Given the description of an element on the screen output the (x, y) to click on. 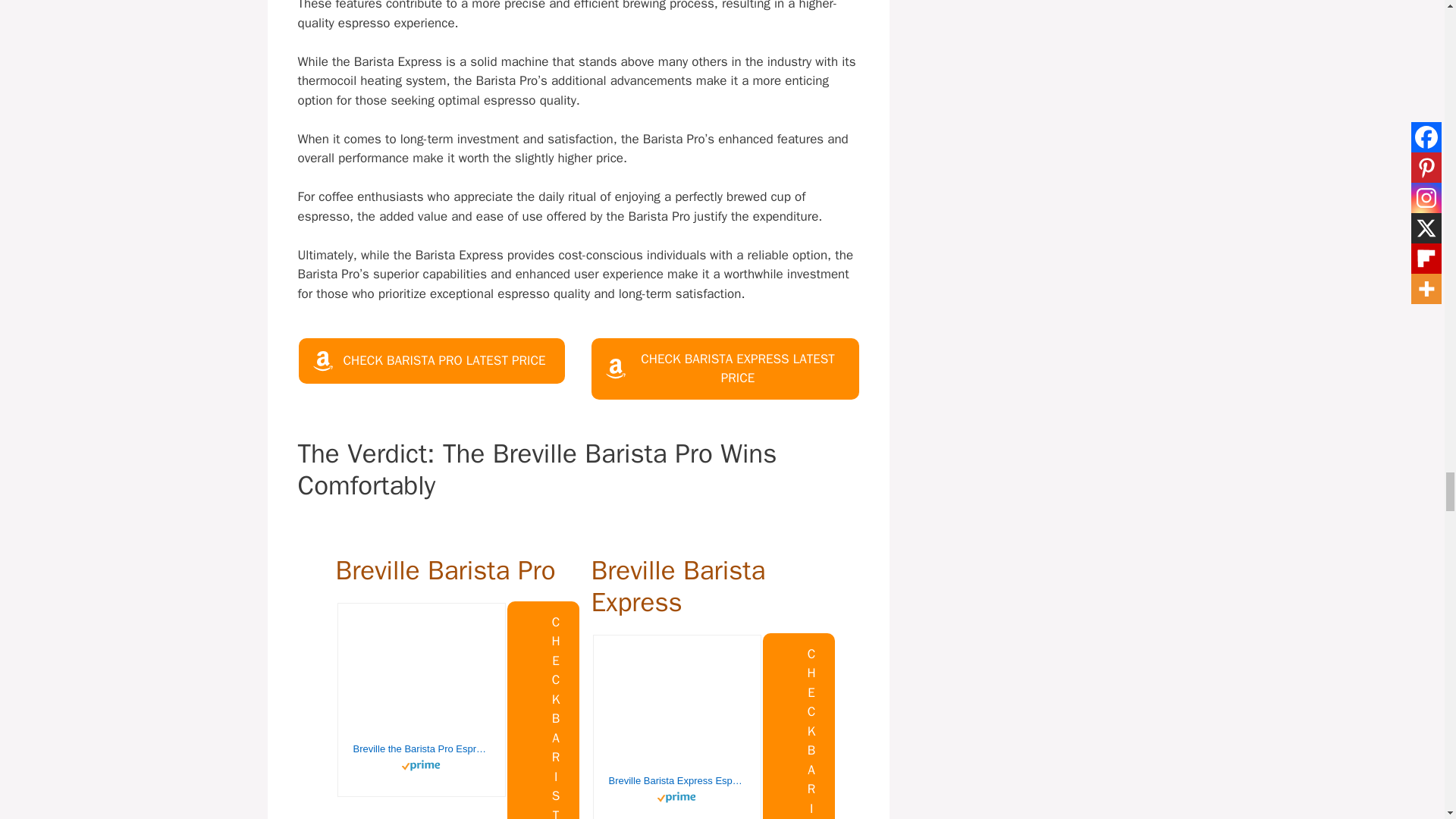
Breville Barista Pro (444, 570)
CHECK BARISTA EXPRESS LATEST PRICE (725, 368)
CHECK BARISTA PRO LATEST PRICE (431, 361)
Breville Barista Express (678, 586)
